Given the description of an element on the screen output the (x, y) to click on. 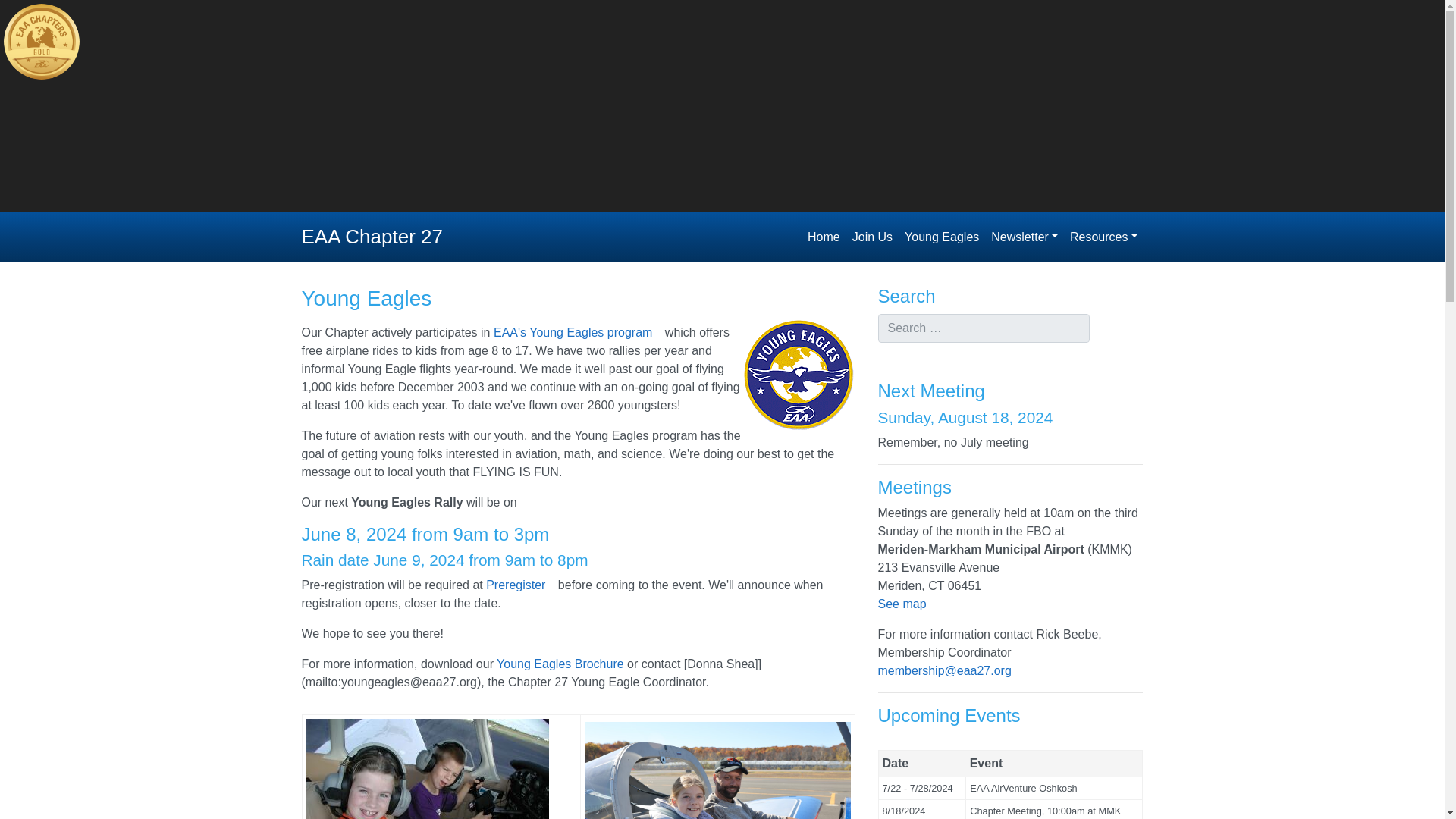
Newsletter (1024, 236)
See map (906, 603)
Home (823, 236)
EAA Chapter 27 (371, 236)
Join Us (871, 236)
EAA's Young Eagles program (577, 332)
Young Eagles Brochure (560, 663)
Young Eagles (941, 236)
Resources (1103, 236)
Preregister (520, 584)
